Given the description of an element on the screen output the (x, y) to click on. 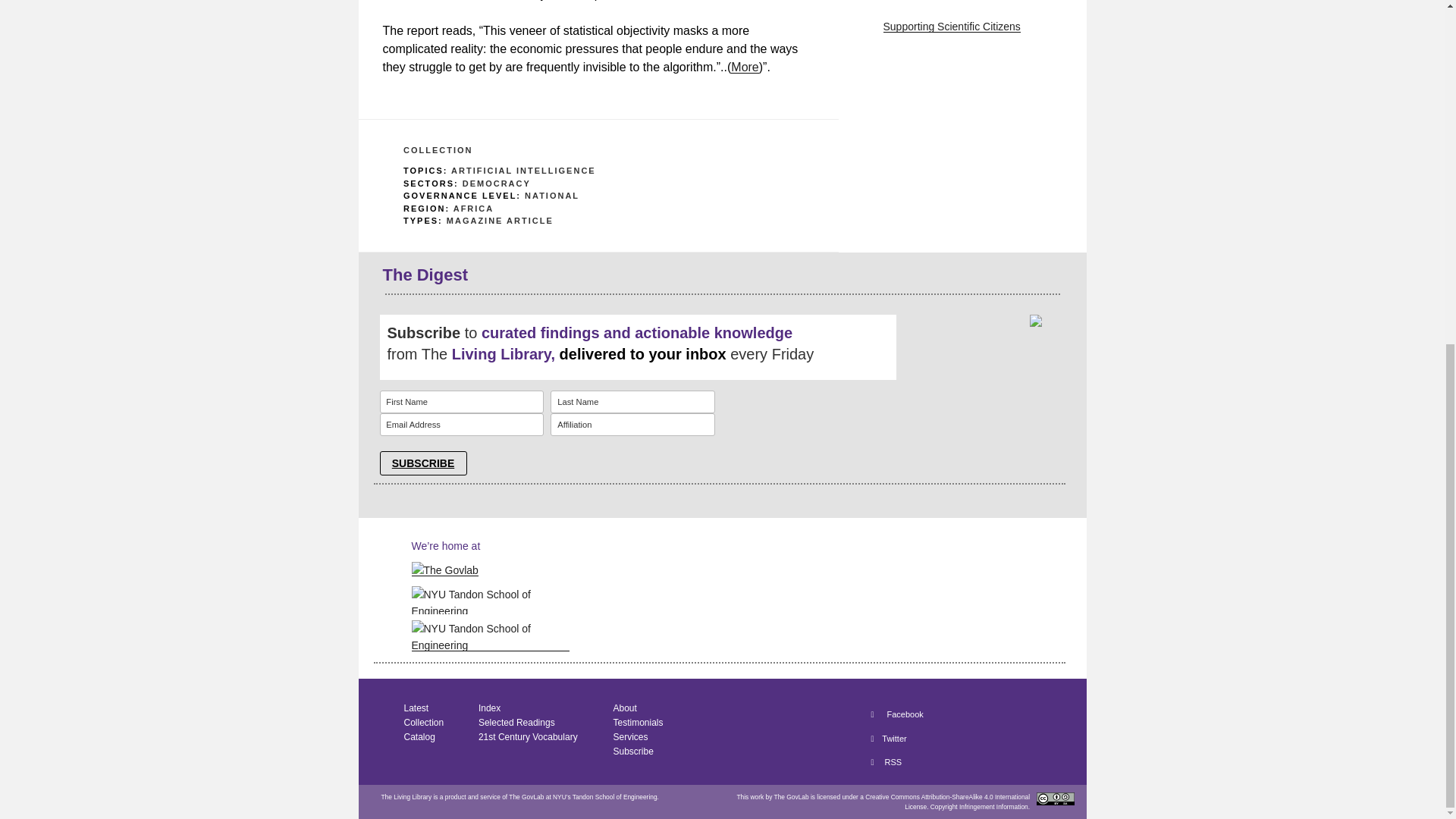
SUBSCRIBE (421, 463)
SUBSCRIBE (421, 463)
COLLECTION (438, 149)
MAGAZINE ARTICLE (499, 220)
NATIONAL (551, 194)
ARTIFICIAL INTELLIGENCE (523, 170)
DEMOCRACY (497, 183)
AFRICA (473, 207)
Supporting Scientific Citizens (951, 26)
More (744, 66)
